Given the description of an element on the screen output the (x, y) to click on. 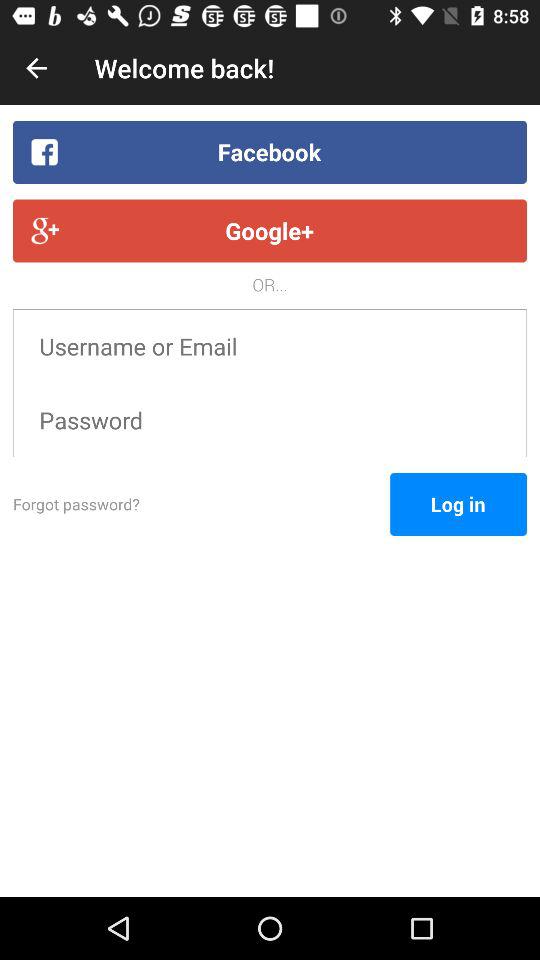
tap log in icon (458, 503)
